Given the description of an element on the screen output the (x, y) to click on. 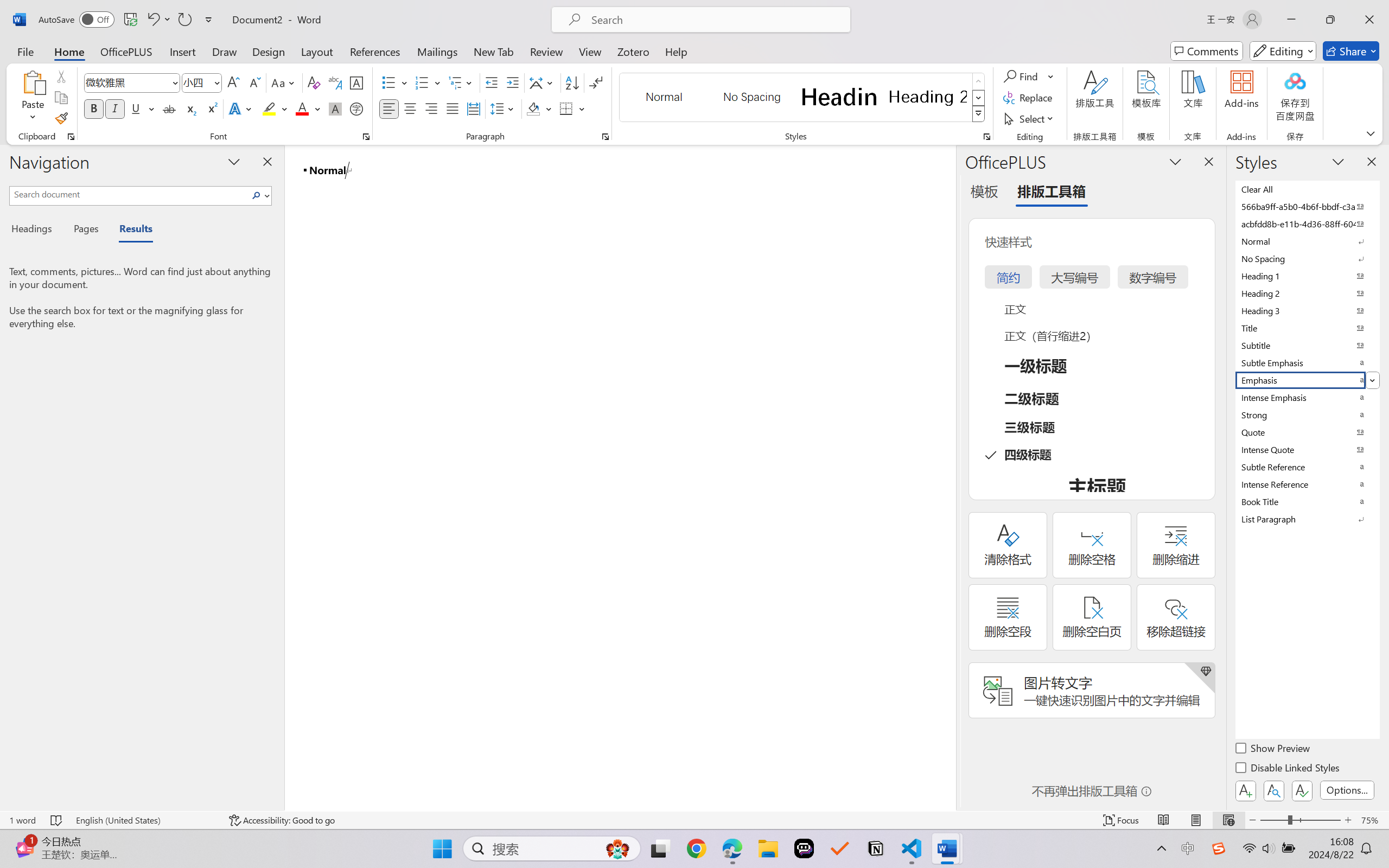
Restore Down (1330, 19)
Font (126, 82)
Web Layout (1228, 819)
Paste (33, 81)
Grow Font (233, 82)
Change Case (284, 82)
No Spacing (1306, 258)
Row up (978, 81)
Subtitle (1306, 345)
References (375, 51)
Word Count 1 word (21, 819)
Character Border (356, 82)
Strong (1306, 414)
